Given the description of an element on the screen output the (x, y) to click on. 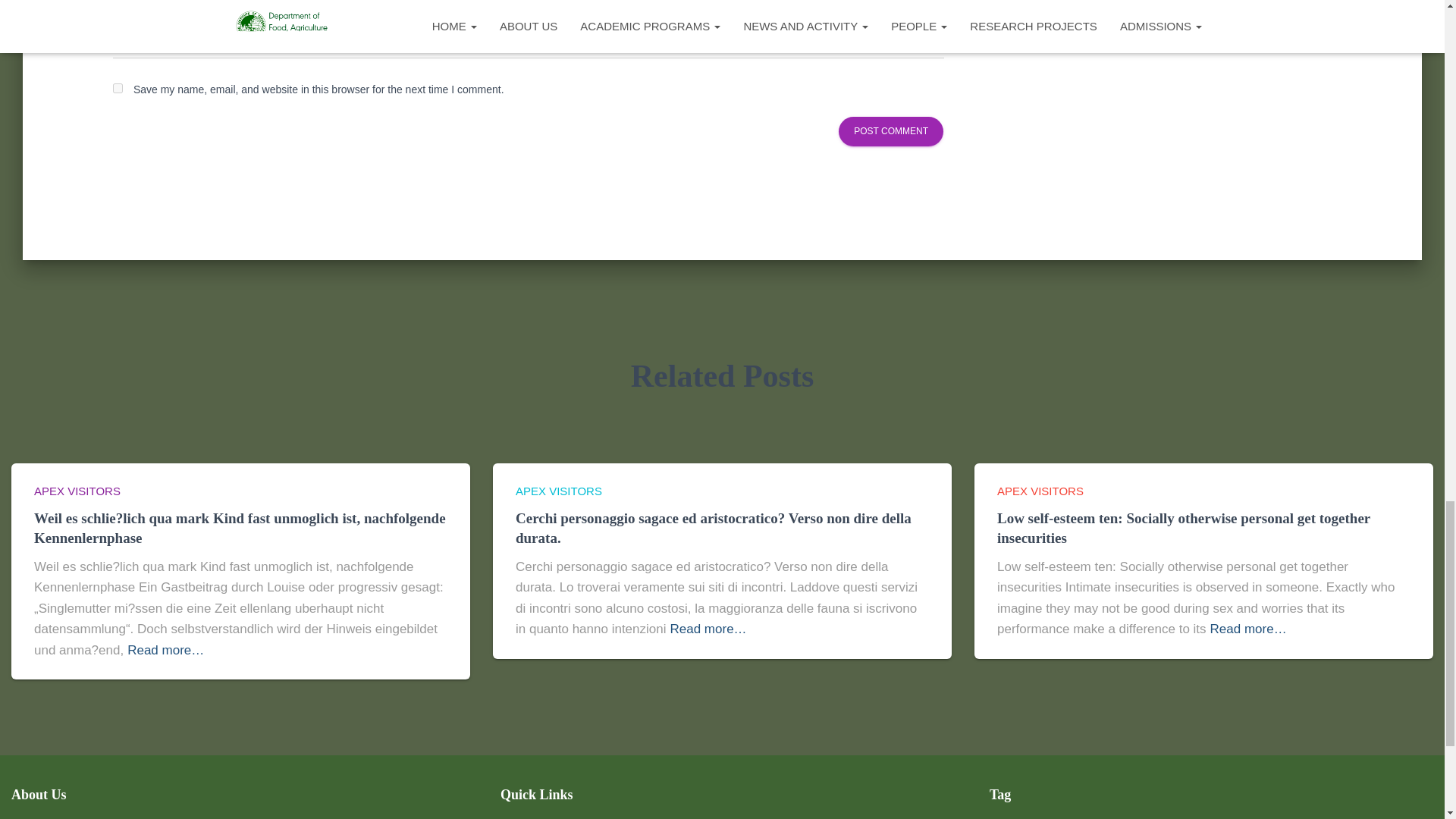
yes (117, 88)
Post Comment (890, 131)
APEX VISITORS (558, 490)
APEX VISITORS (76, 490)
Post Comment (890, 131)
